Given the description of an element on the screen output the (x, y) to click on. 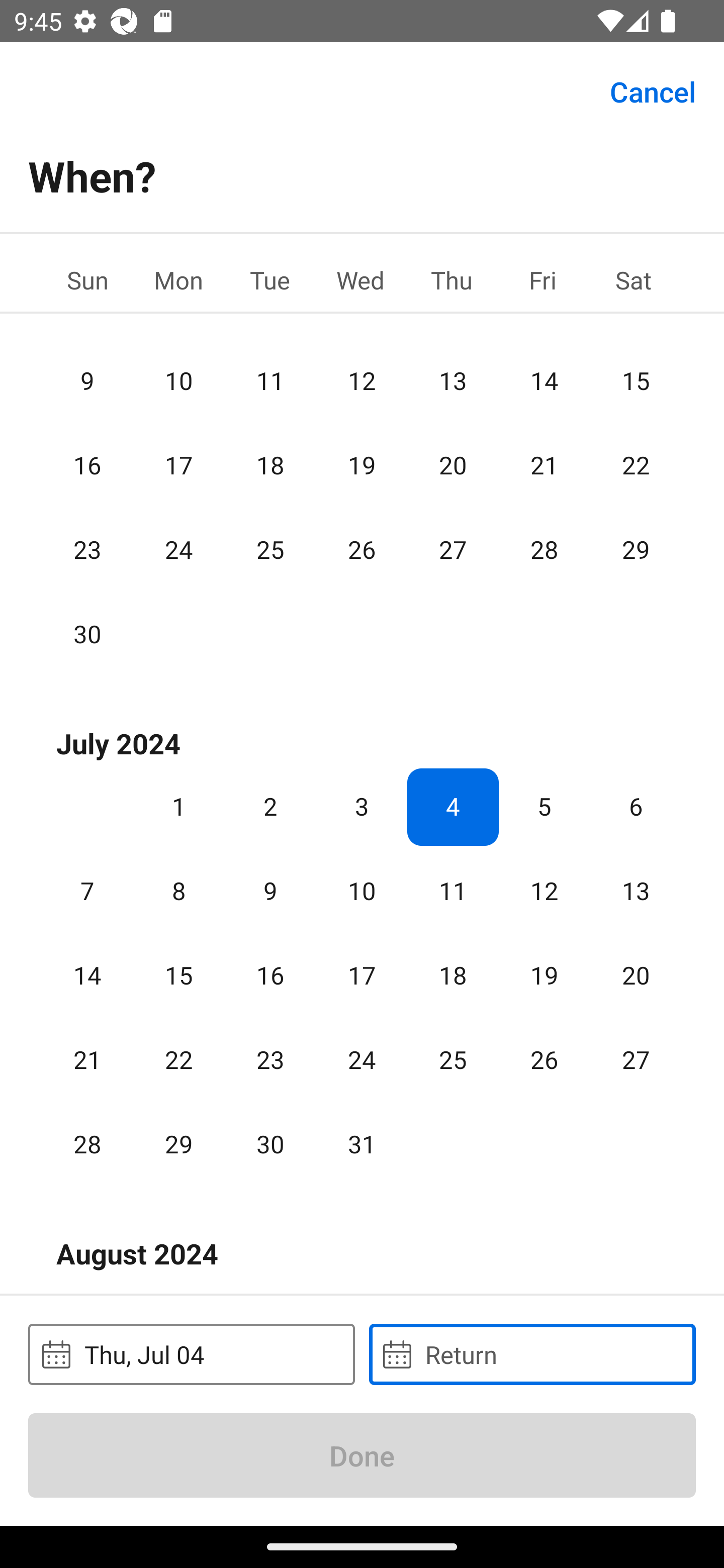
Cancel (652, 90)
Thu, Jul 04 (191, 1353)
Return (532, 1353)
Done (361, 1454)
